Given the description of an element on the screen output the (x, y) to click on. 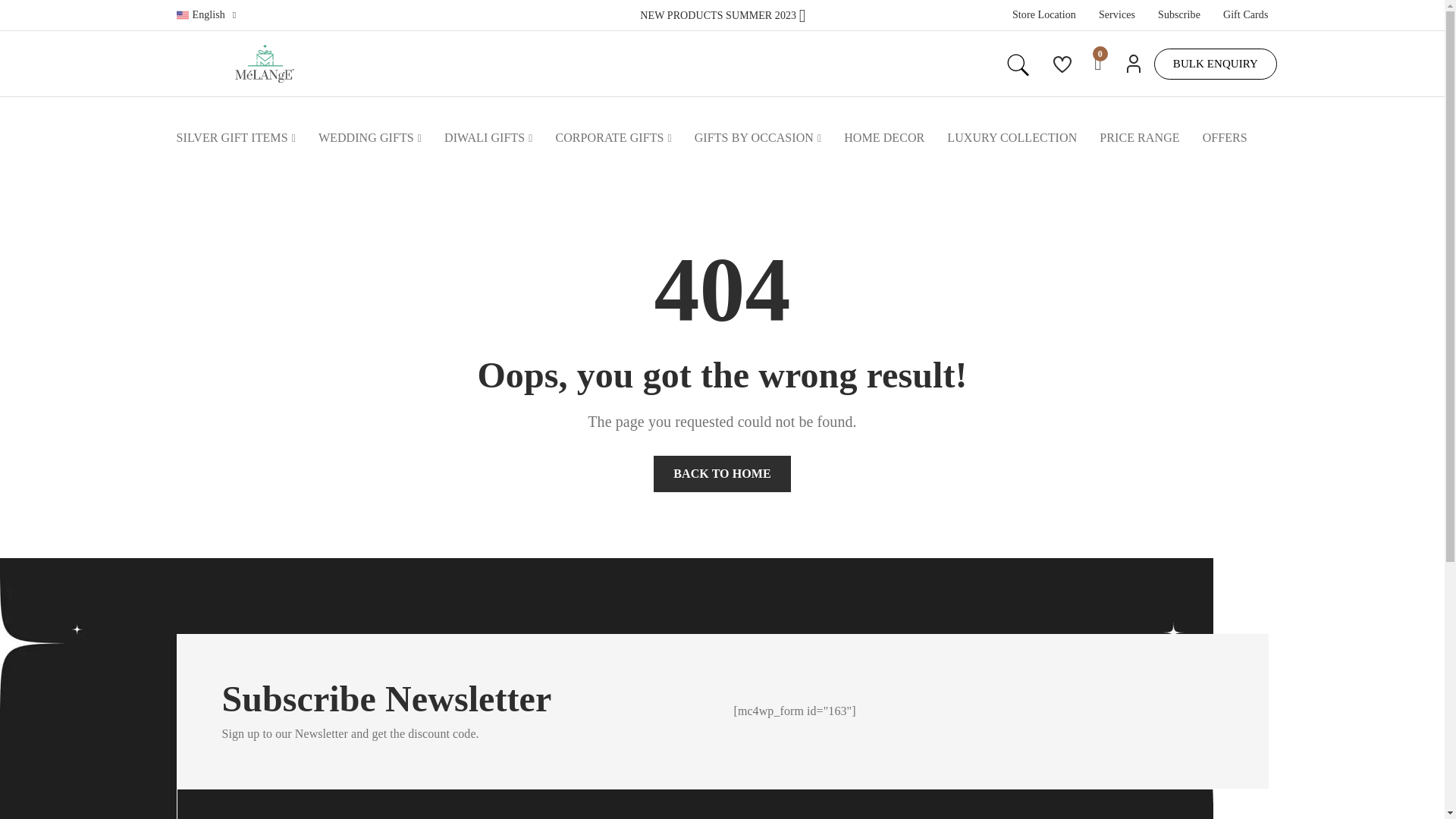
Services (1117, 14)
Subscribe (1178, 14)
English (205, 15)
Store Location (1043, 14)
NEW PRODUCTS SUMMER 2023 (722, 14)
Gift Cards (1245, 14)
